Given the description of an element on the screen output the (x, y) to click on. 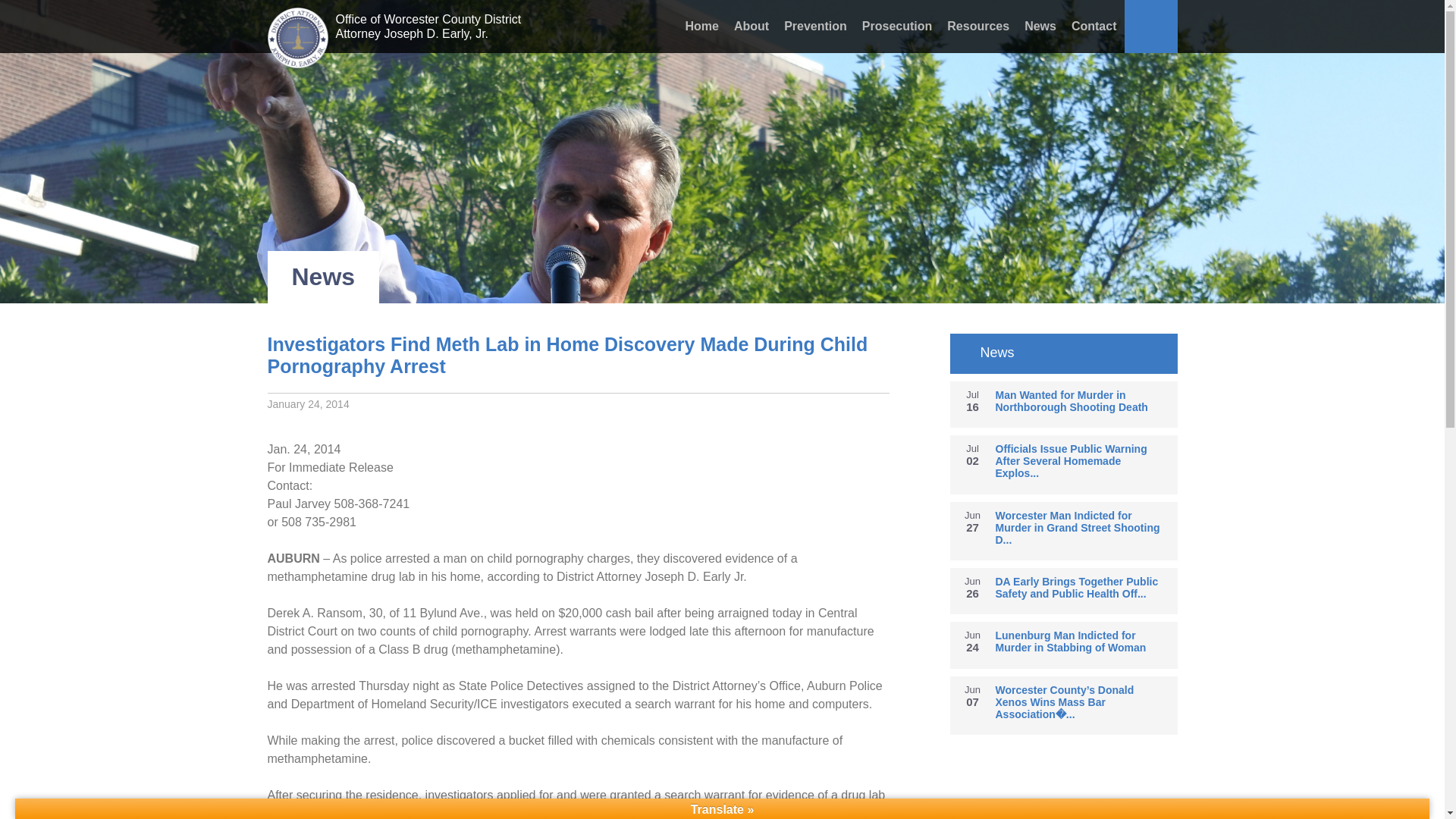
Prevention (815, 24)
Lunenburg Man Indicted for Murder in Stabbing of Woman (1085, 641)
News (1062, 353)
Prosecution (896, 24)
About (751, 24)
News (1040, 24)
Home (702, 24)
Man Wanted for Murder in Northborough Shooting Death (1085, 401)
Contact (1094, 24)
Resources (977, 24)
